Given the description of an element on the screen output the (x, y) to click on. 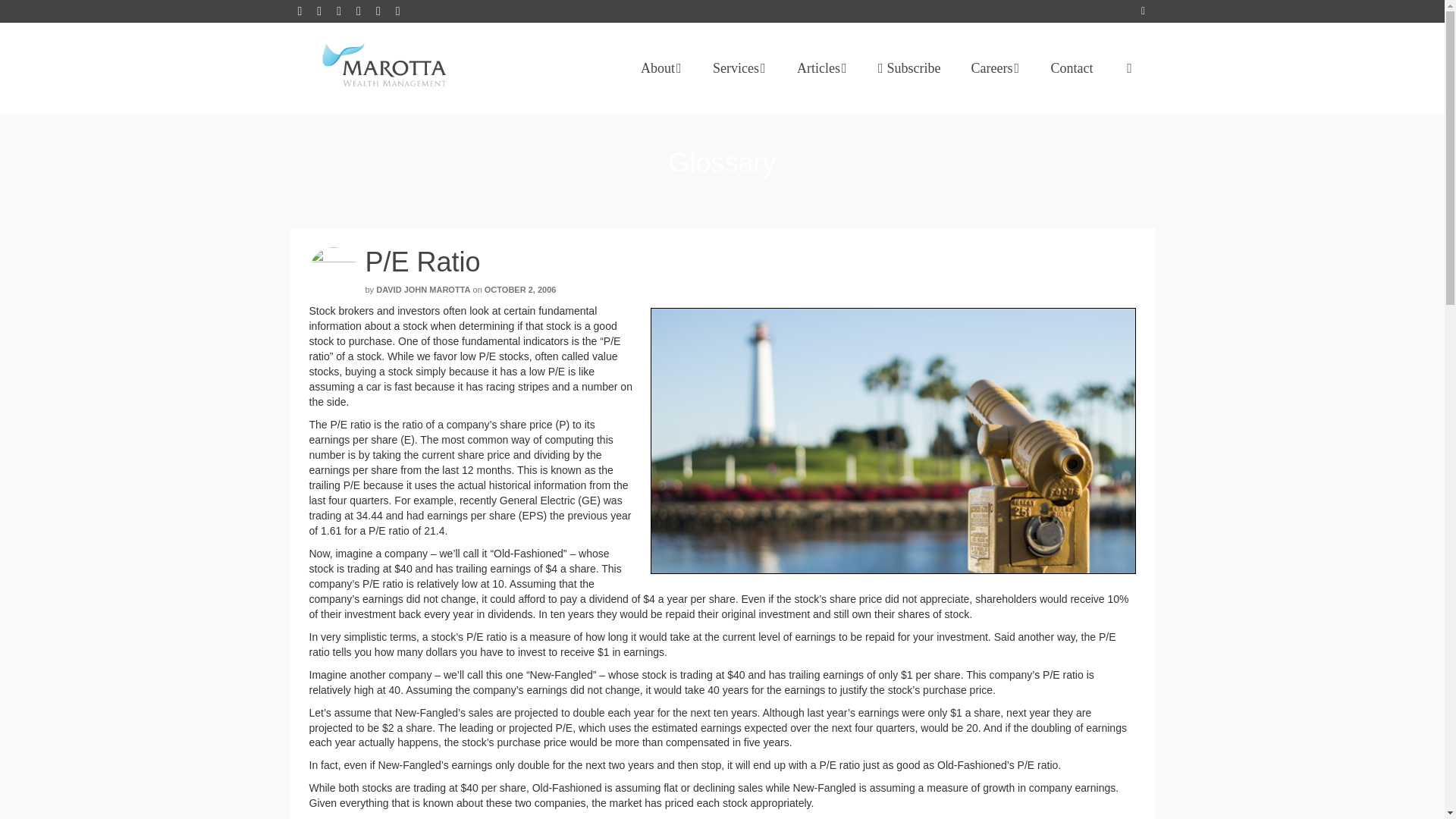
About (661, 67)
Services (739, 67)
Articles (822, 67)
Careers (995, 67)
Subscribe (909, 67)
Posts by David John Marotta (422, 289)
Contact (1071, 67)
